Given the description of an element on the screen output the (x, y) to click on. 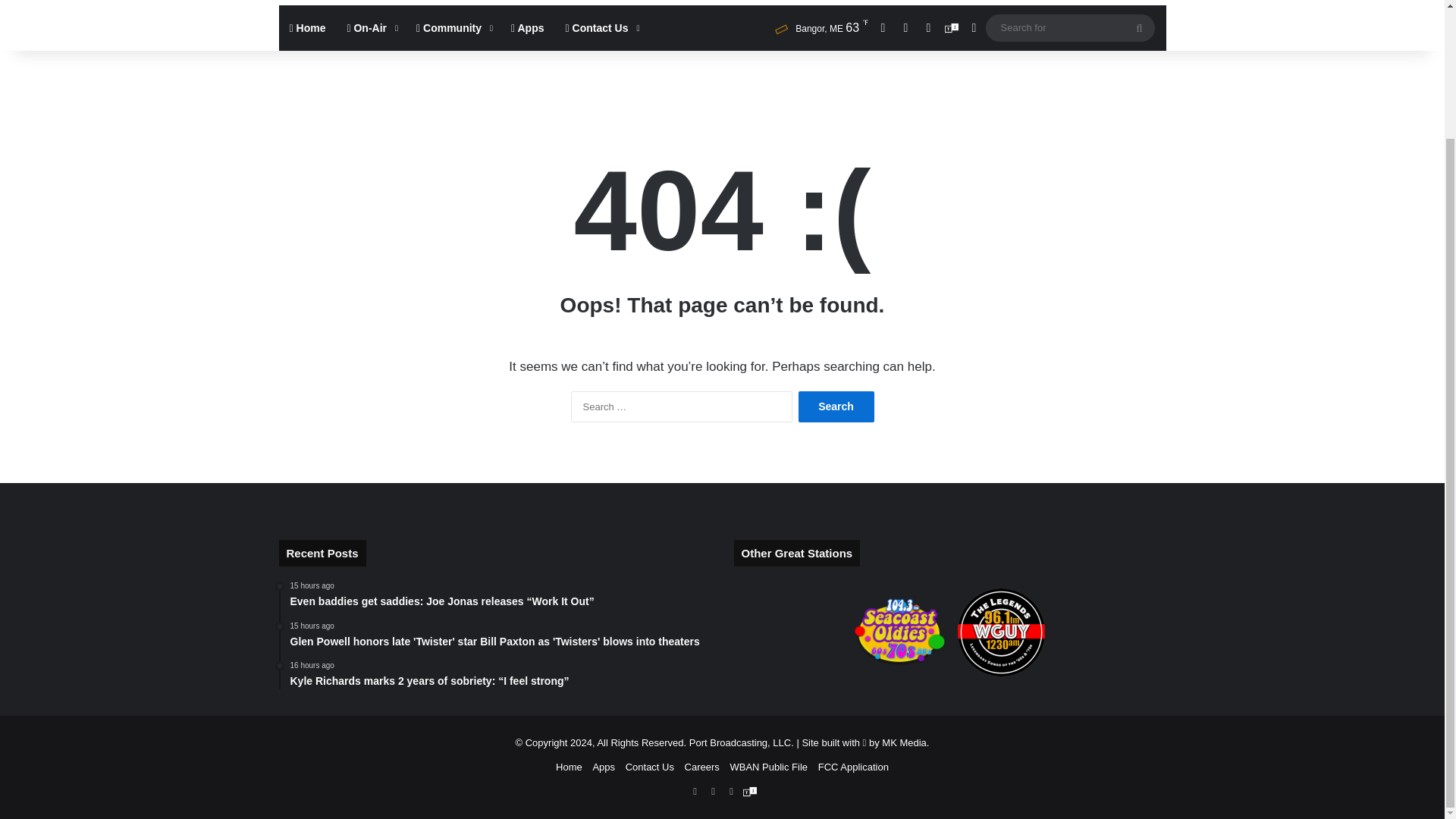
Apps (527, 27)
Search for (1139, 27)
Home (307, 27)
Contact Us (600, 27)
Port Broadcasting, LLC. (740, 742)
Search (835, 406)
Clear Sky (817, 27)
Search (835, 406)
On-Air (371, 27)
MK Media. (905, 742)
Search (835, 406)
Search for (1069, 27)
Community (453, 27)
